Given the description of an element on the screen output the (x, y) to click on. 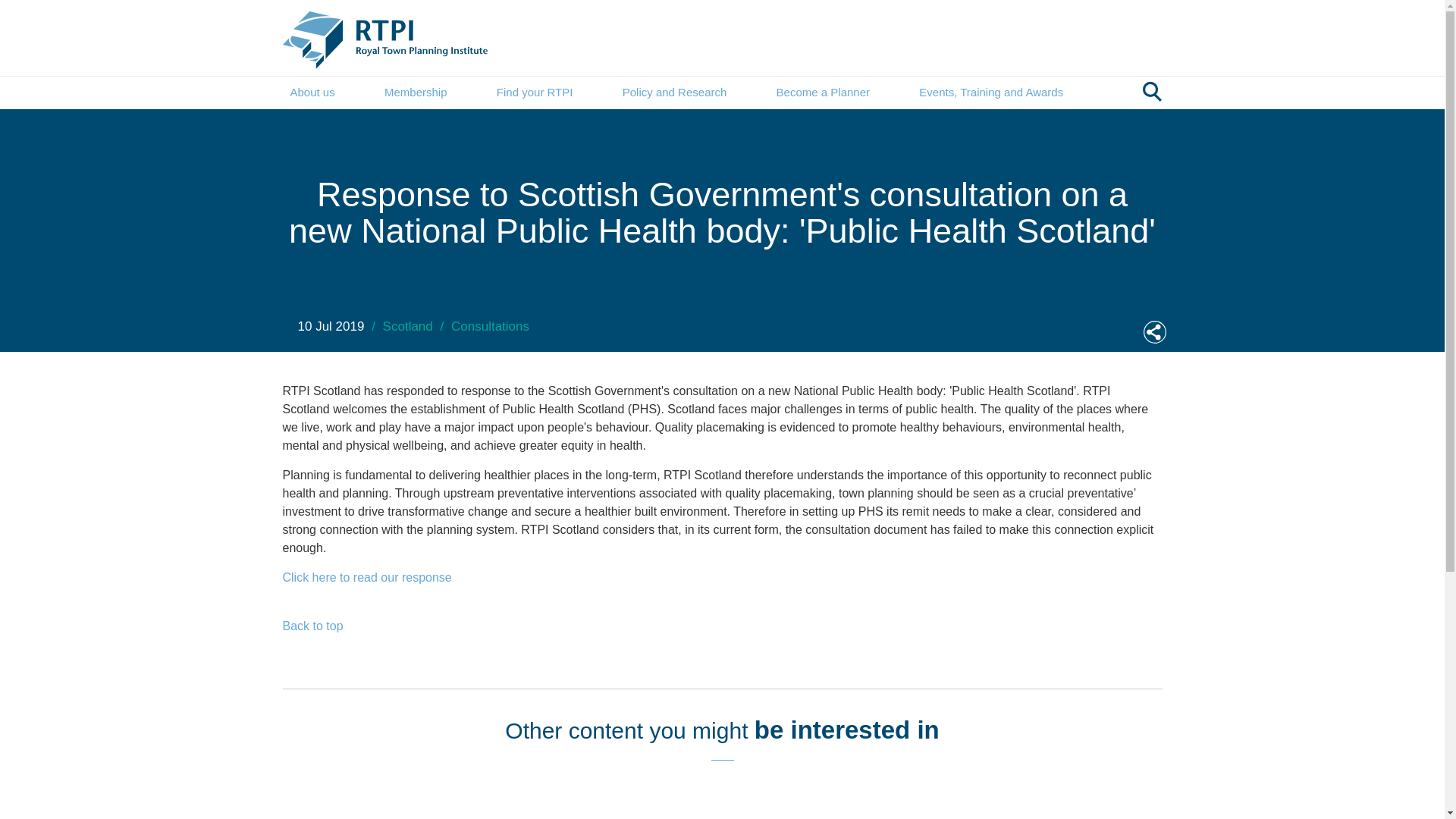
Events, Training and Awards (990, 92)
Membership (415, 92)
About us (311, 92)
Find your RTPI (534, 92)
About us (311, 92)
Membership (415, 92)
Become a planner (822, 92)
Public Health Scotland RTPI Scotland Response (366, 576)
Find your RTPI (534, 92)
Policy, Practice, and Research (674, 92)
